Given the description of an element on the screen output the (x, y) to click on. 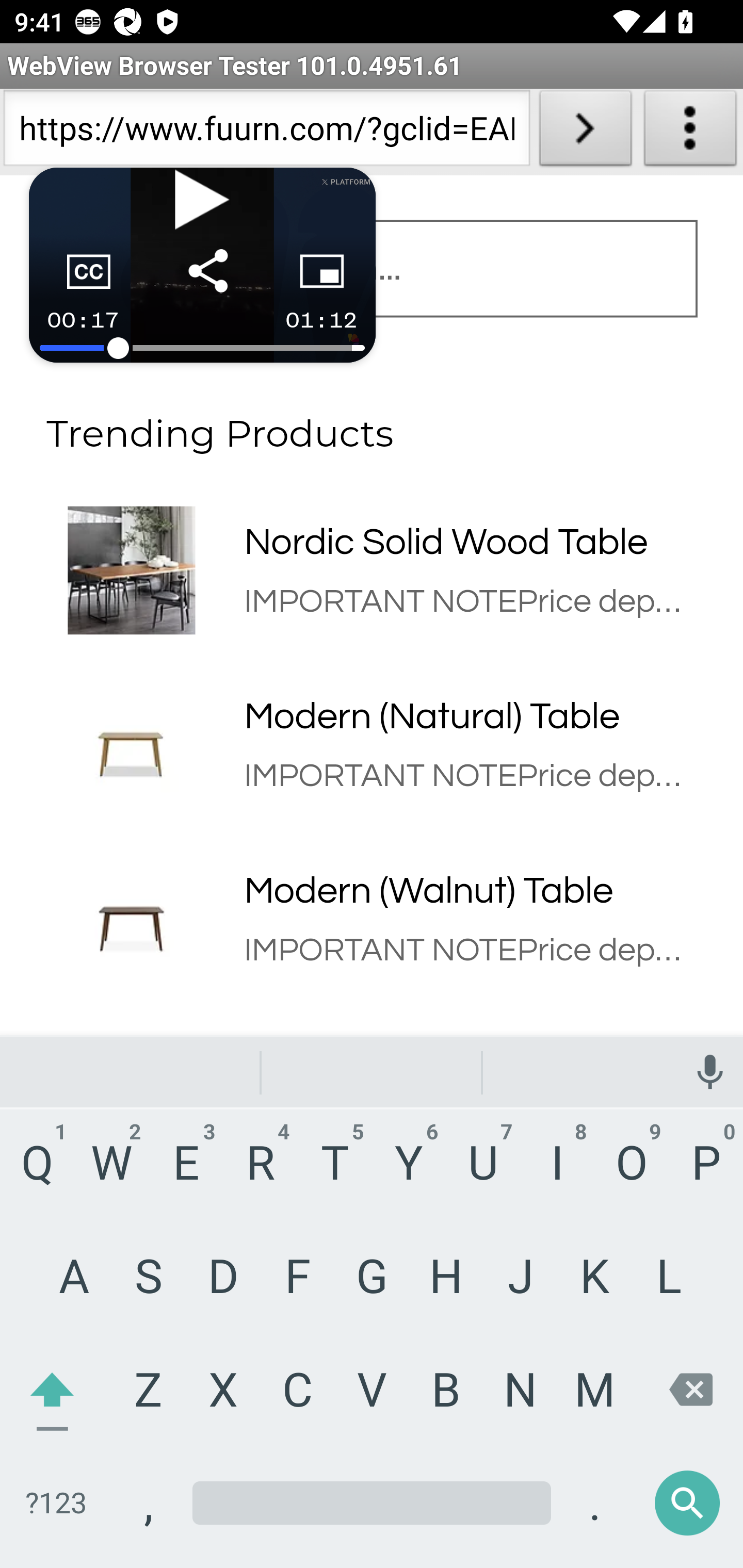
Load URL (585, 132)
About WebView (690, 132)
Trending Products (371, 422)
